Given the description of an element on the screen output the (x, y) to click on. 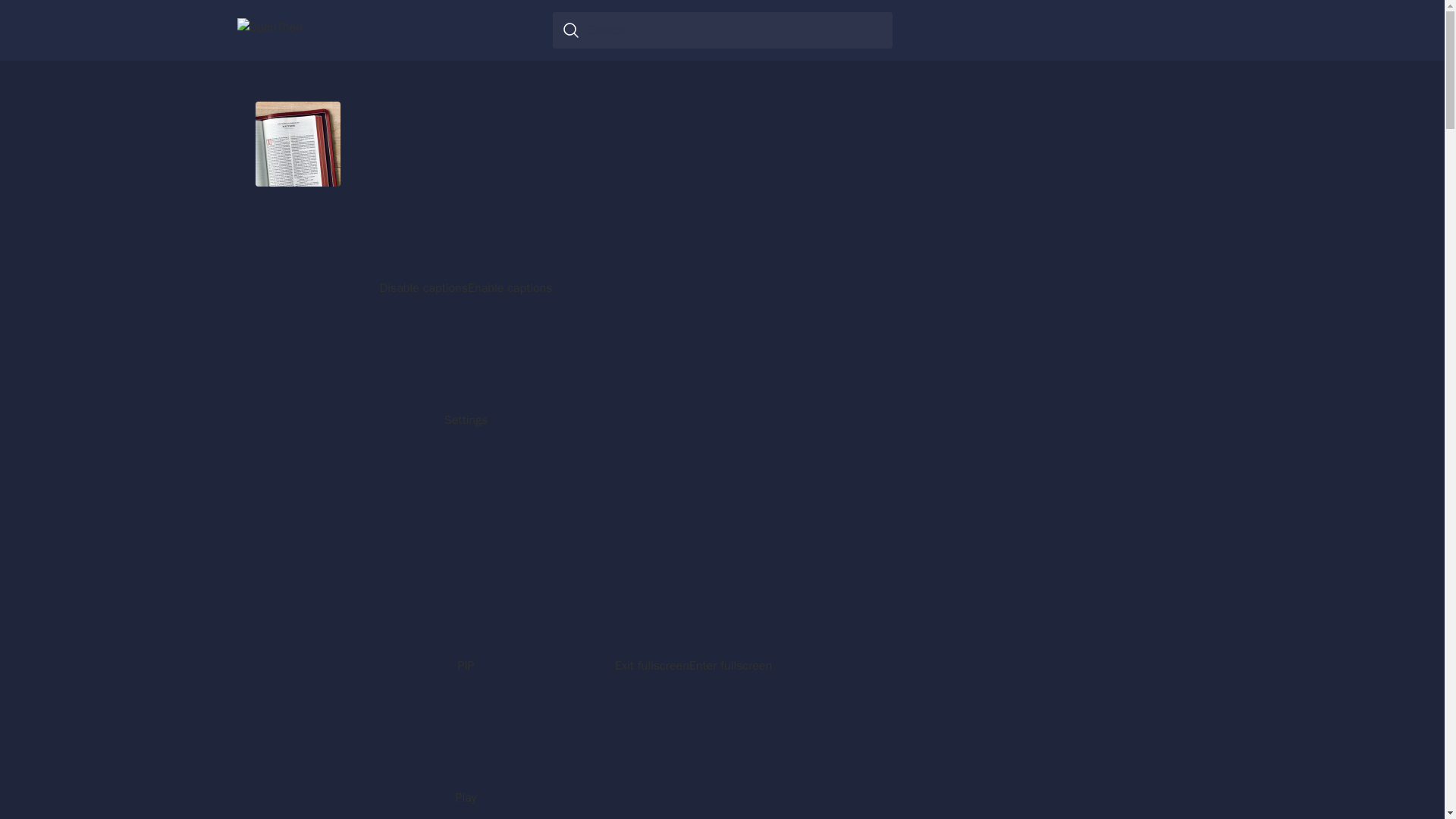
Skip to 0:00 (480, 780)
1 (628, 39)
MORE FROM "GOSPEL OF MATTHEW" (557, 502)
Play (1049, 415)
PIP (465, 740)
Disable captionsEnable captions (465, 608)
Download PDF (465, 174)
Settings (849, 746)
